Given the description of an element on the screen output the (x, y) to click on. 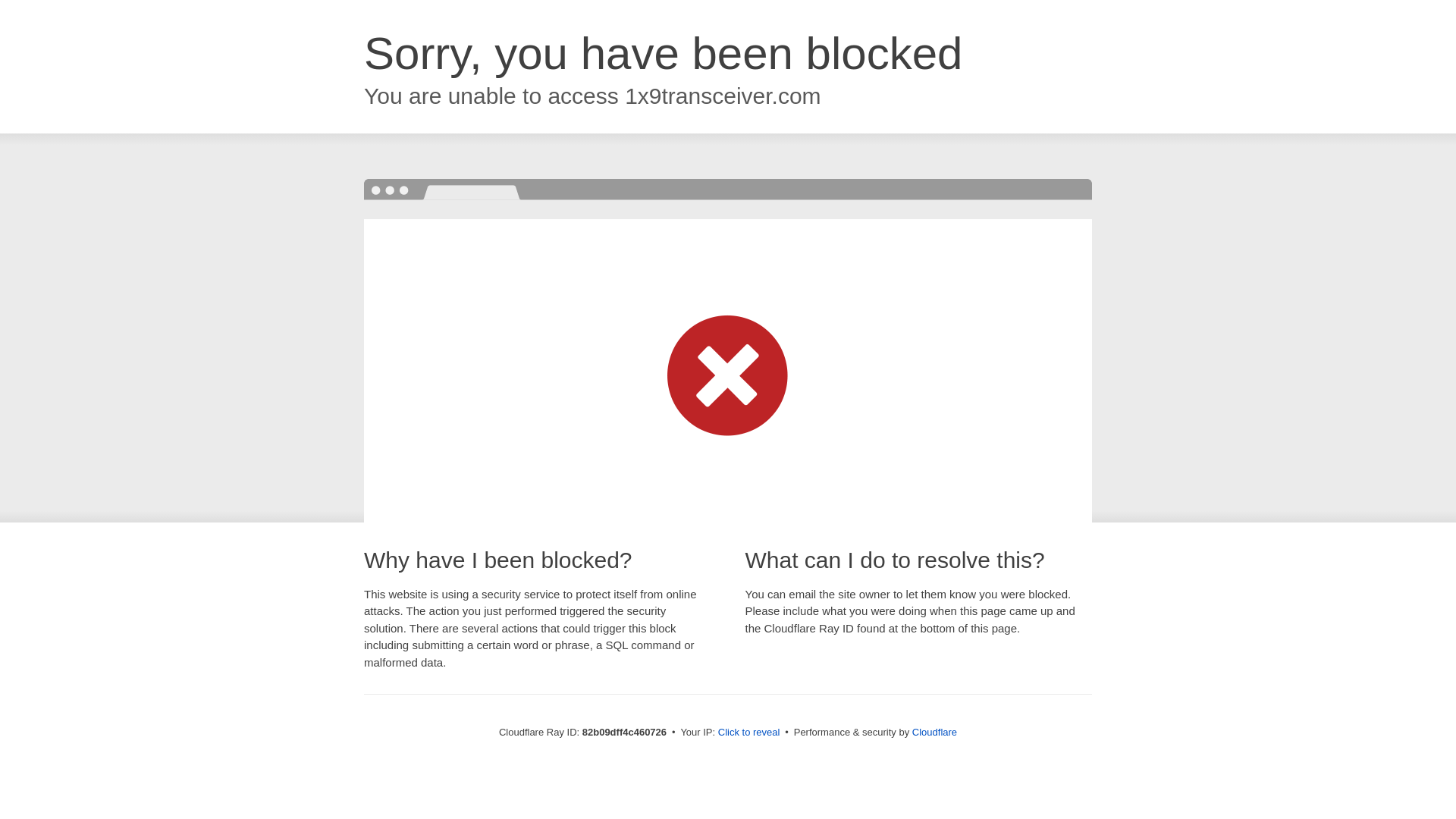
Cloudflare Element type: text (934, 731)
Click to reveal Element type: text (749, 732)
